Given the description of an element on the screen output the (x, y) to click on. 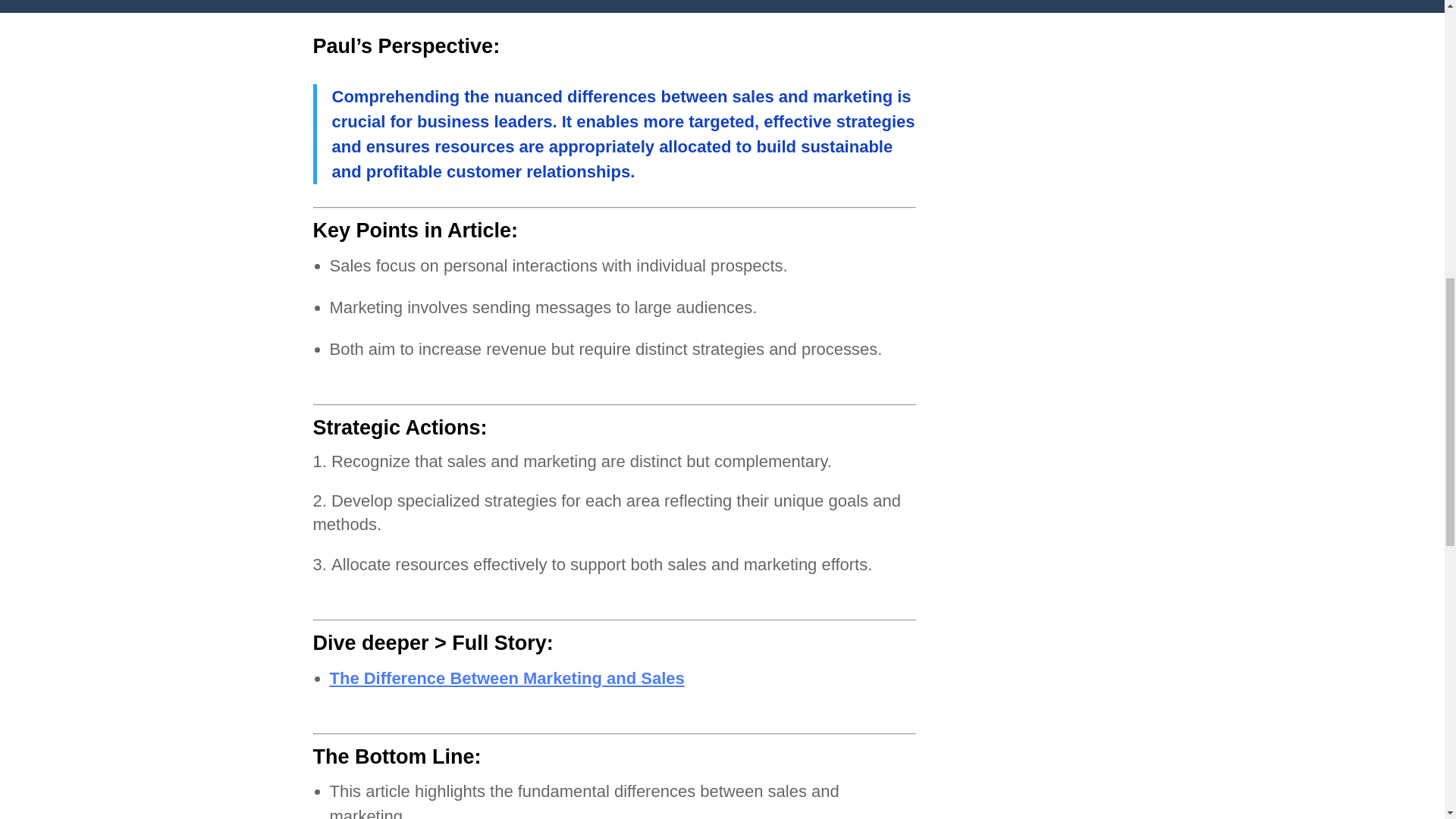
The Difference Between Marketing and Sales (506, 678)
